Given the description of an element on the screen output the (x, y) to click on. 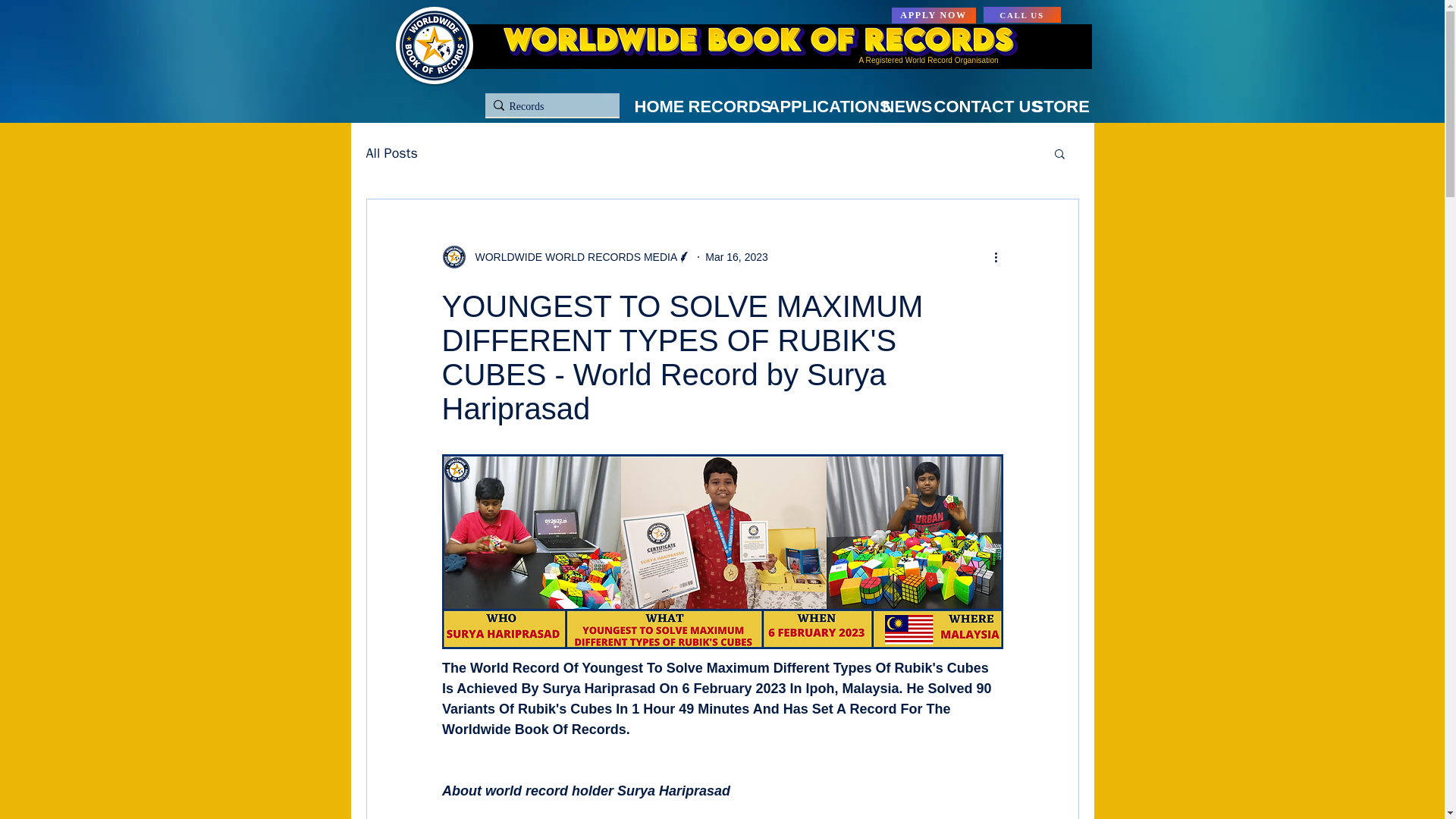
RECORDS (758, 106)
HOME (676, 106)
WORLDWIDE WORLD RECORDS MEDIA (566, 256)
CALL US (1020, 14)
NEWS (977, 106)
Mar 16, 2023 (736, 256)
All Posts (390, 153)
APPLICATIONS (876, 106)
WORLDWIDE WORLD RECORDS MEDIA (571, 256)
APPLY NOW (933, 15)
